Given the description of an element on the screen output the (x, y) to click on. 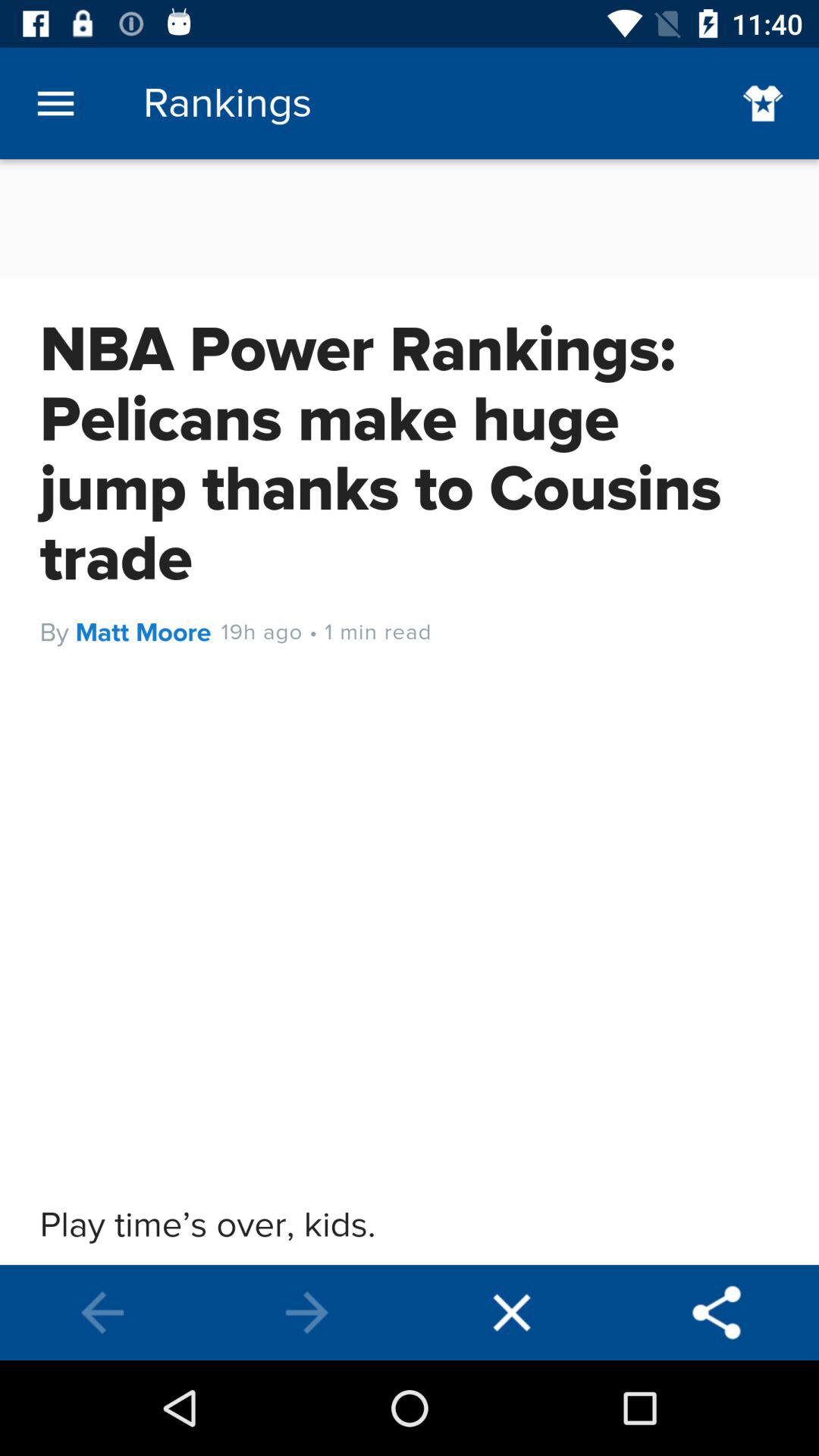
share the option (716, 1312)
